Given the description of an element on the screen output the (x, y) to click on. 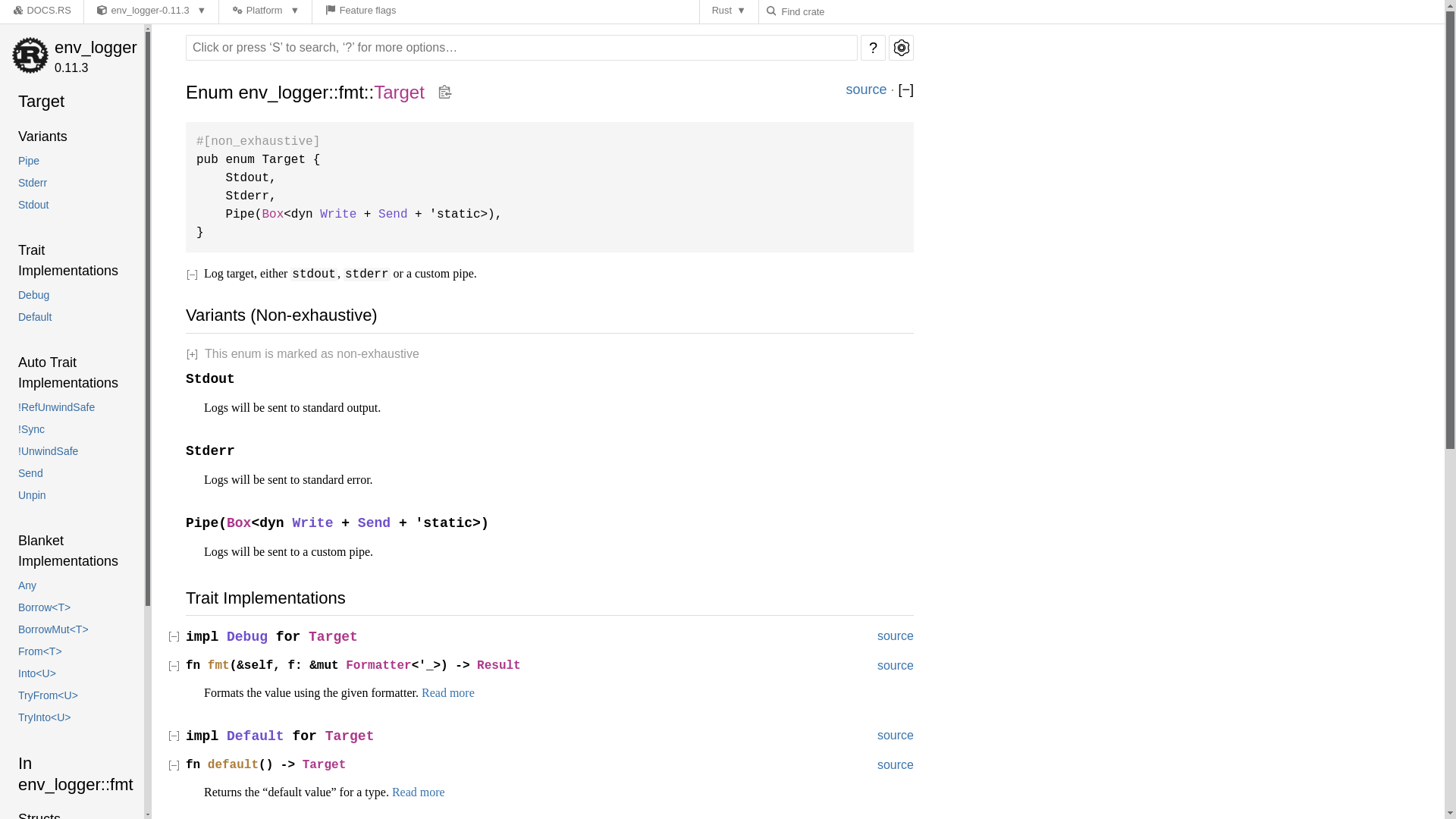
Docs.rs (17, 9)
struct alloc::boxed::Box (238, 522)
Rust (729, 11)
Feature flags (360, 11)
Copy item path to clipboard (444, 92)
collapse all docs (906, 89)
DOCS.RS (41, 11)
Platform (265, 11)
settings (901, 47)
trait std::io::Write (312, 522)
trait std::io::Write (338, 214)
struct alloc::boxed::Box (272, 214)
help (872, 47)
trait core::marker::Send (392, 214)
